Given the description of an element on the screen output the (x, y) to click on. 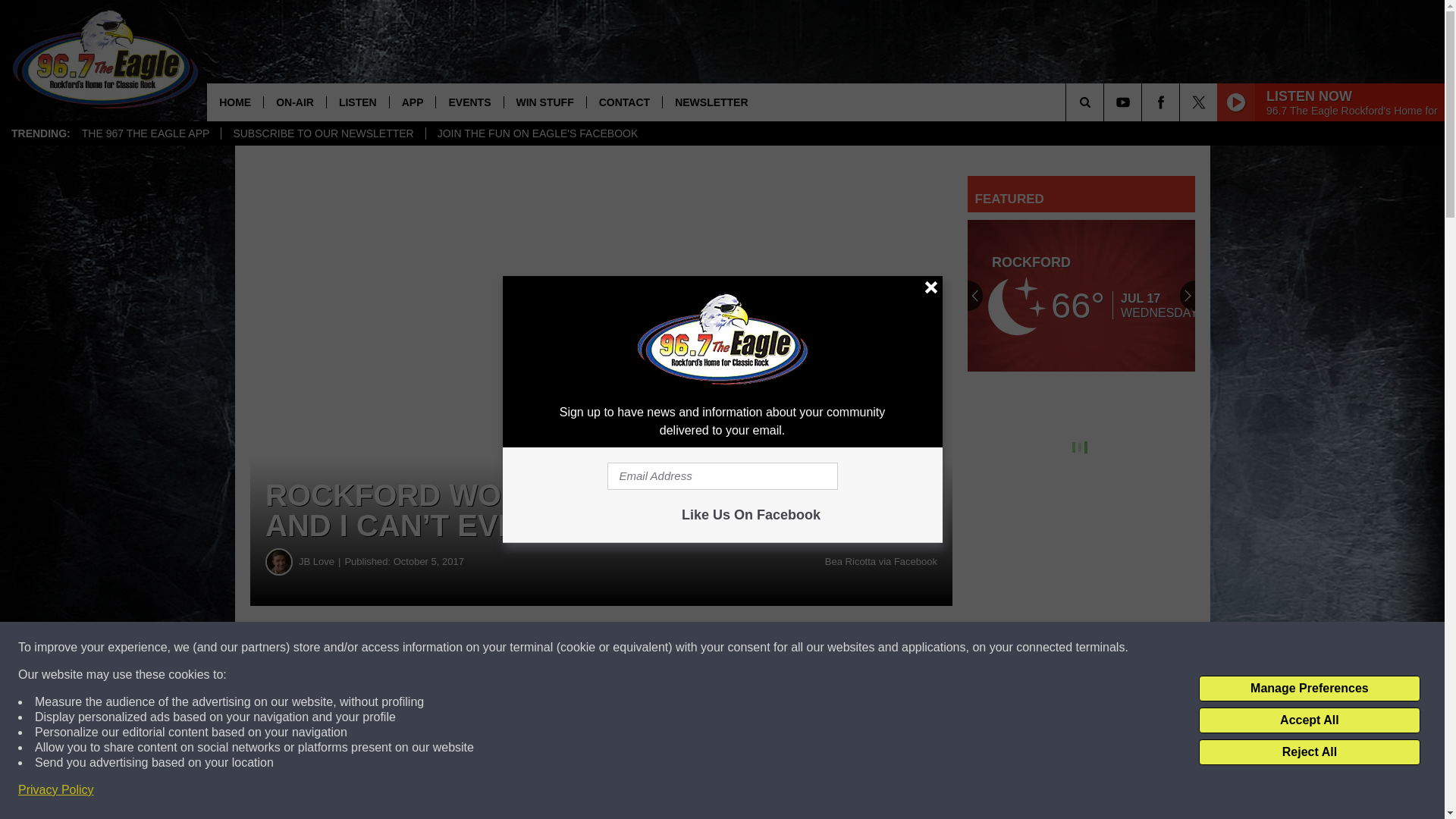
ON-AIR (294, 102)
WIN STUFF (544, 102)
Share on Facebook (460, 647)
APP (411, 102)
Manage Preferences (1309, 688)
Rockford Weather (1081, 295)
Email Address (722, 475)
SEARCH (1106, 102)
EVENTS (468, 102)
SEARCH (1106, 102)
THE 967 THE EAGLE APP (145, 133)
JOIN THE FUN ON EAGLE'S FACEBOOK (537, 133)
Accept All (1309, 720)
LISTEN (357, 102)
Privacy Policy (55, 789)
